Given the description of an element on the screen output the (x, y) to click on. 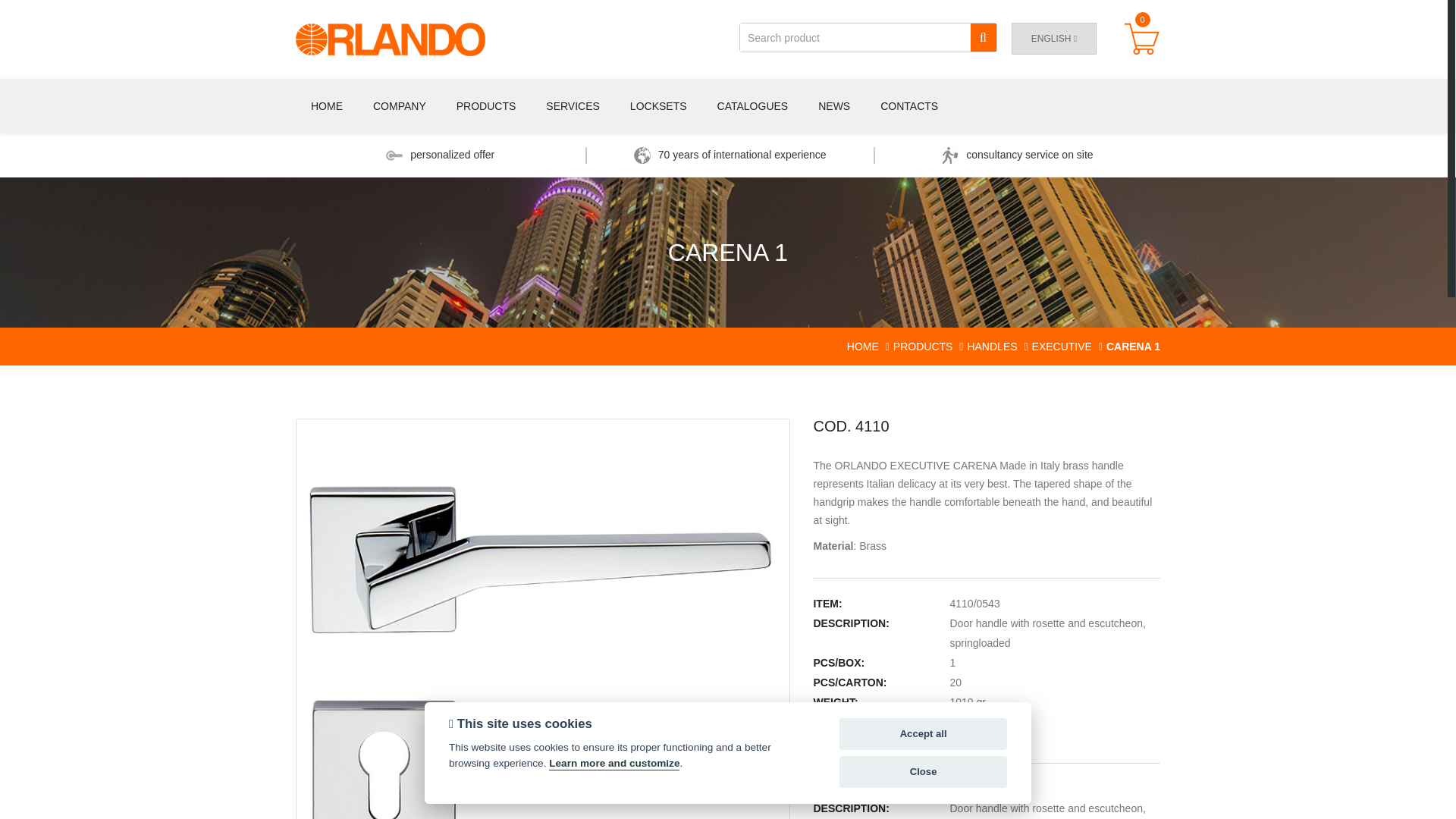
LOCKSETS (657, 105)
COMPANY (399, 105)
PRODUCTS (923, 346)
CATALOGUES (752, 105)
HOME (326, 105)
HANDLES (515, 150)
SERVICES (572, 105)
NEWS (833, 105)
ADD TO QUOTATION (891, 739)
EXECUTIVE (1062, 346)
